Given the description of an element on the screen output the (x, y) to click on. 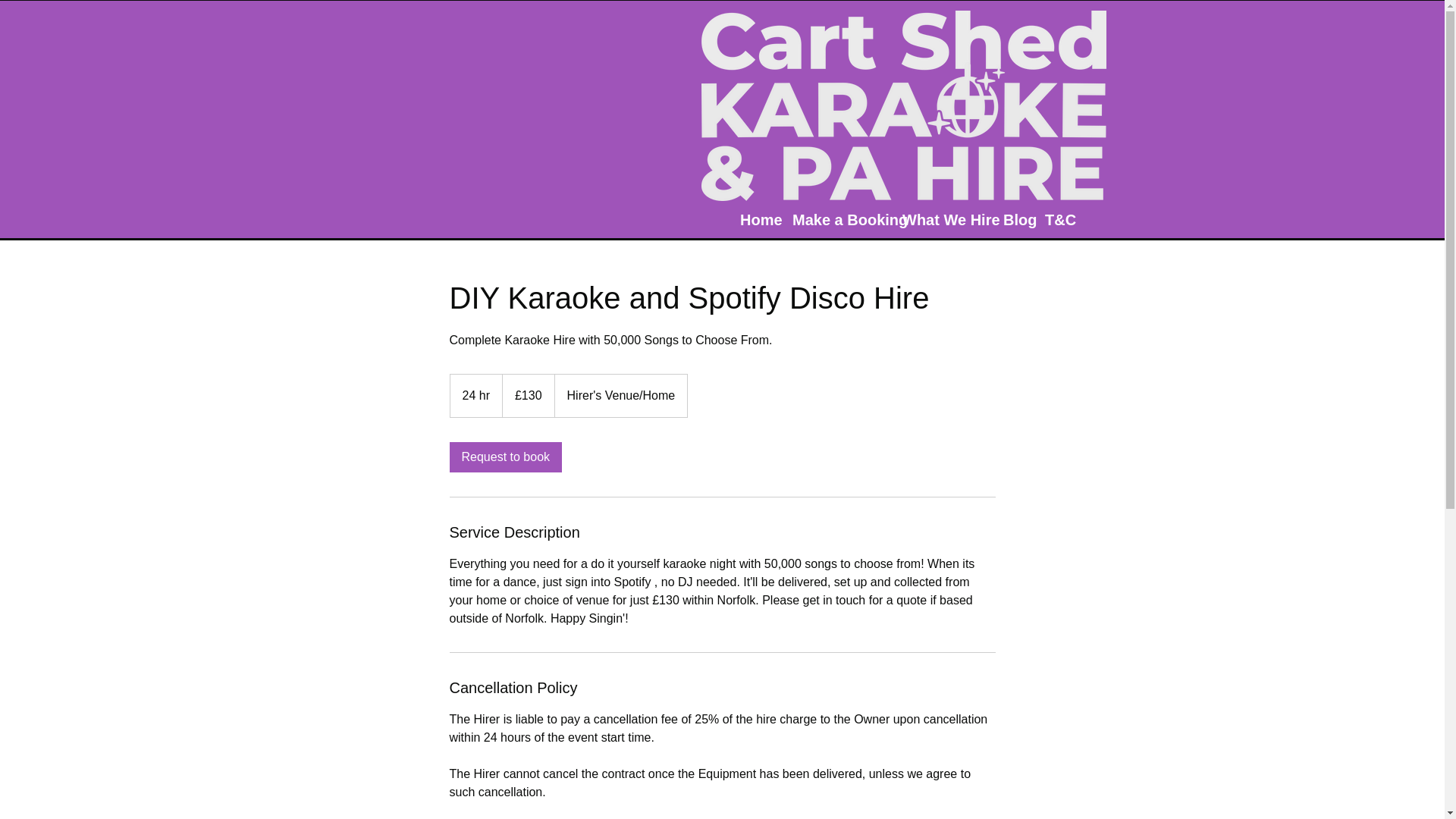
Blog (1015, 218)
Request to book (505, 457)
Home (758, 218)
Make a Booking (839, 218)
What We Hire (945, 218)
